Given the description of an element on the screen output the (x, y) to click on. 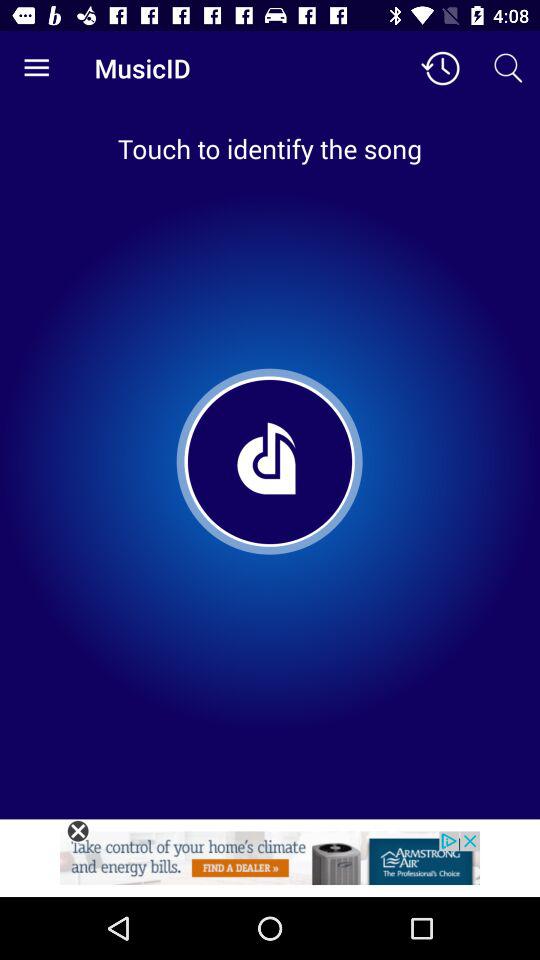
see the advertisement (270, 864)
